Given the description of an element on the screen output the (x, y) to click on. 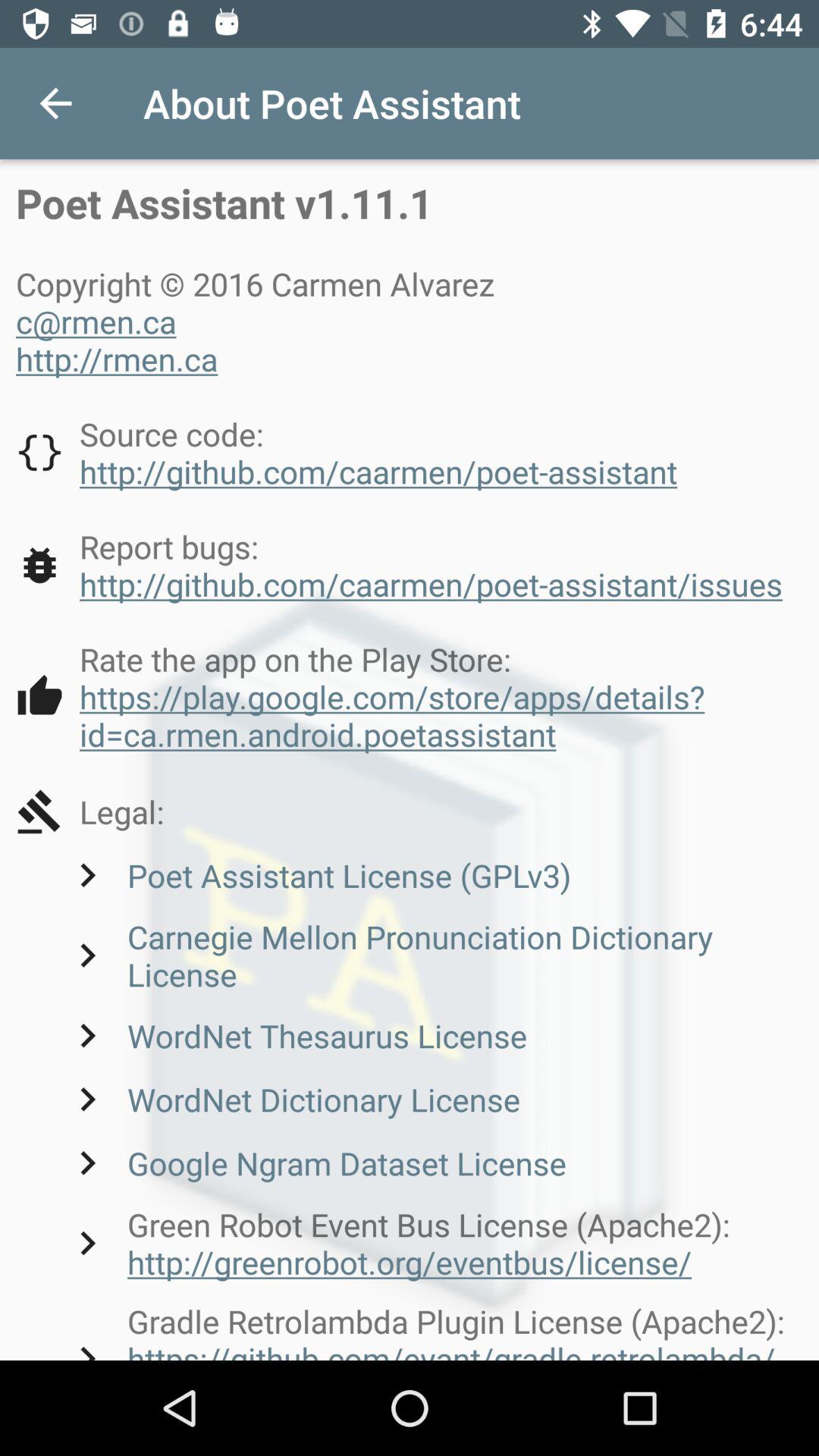
launch icon to the left of the about poet assistant icon (55, 103)
